Given the description of an element on the screen output the (x, y) to click on. 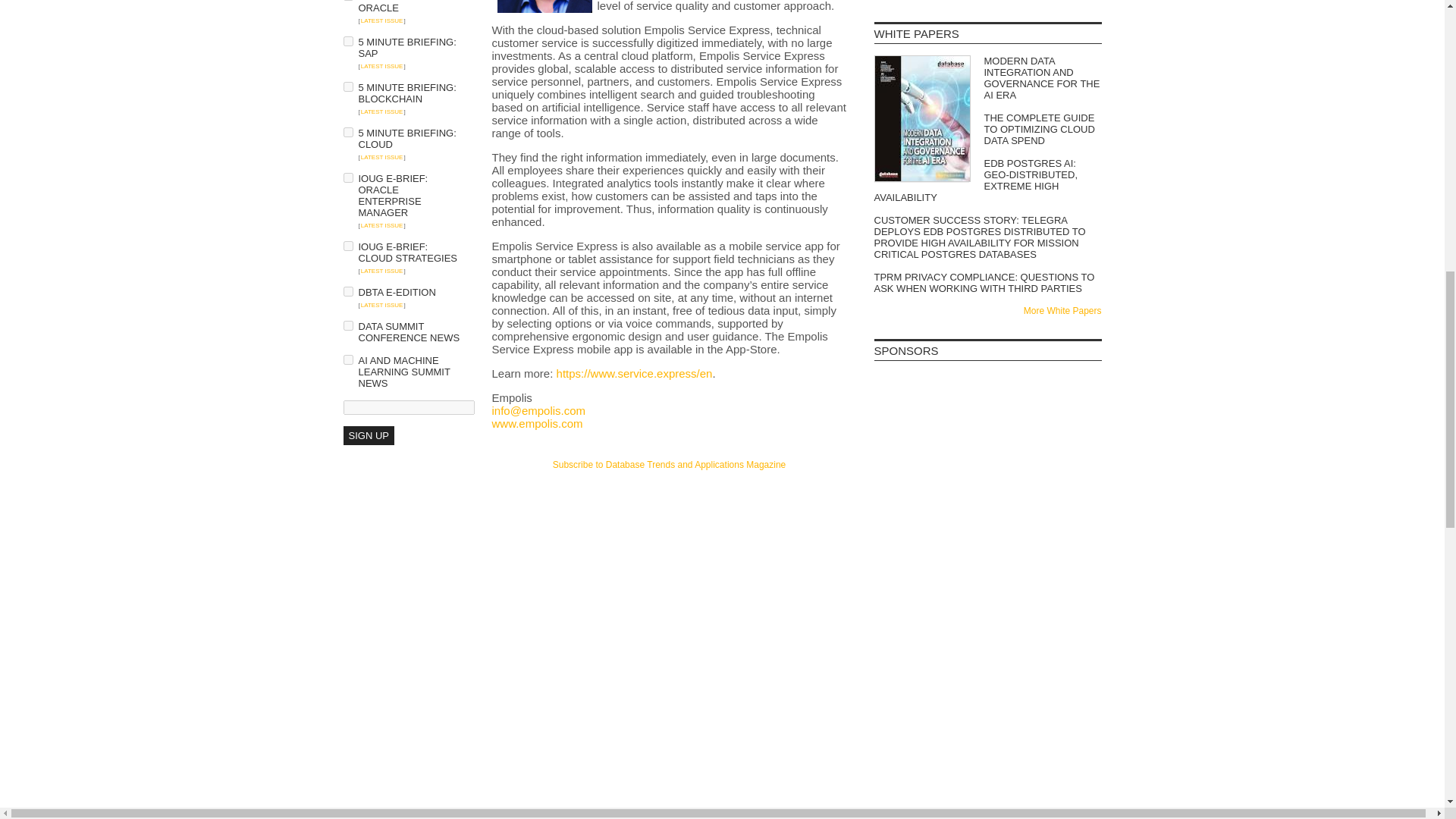
on (347, 132)
on (347, 325)
on (347, 359)
on (347, 40)
on (347, 177)
Modern Data Integration and Governance for the AI Era (986, 77)
on (347, 86)
